Given the description of an element on the screen output the (x, y) to click on. 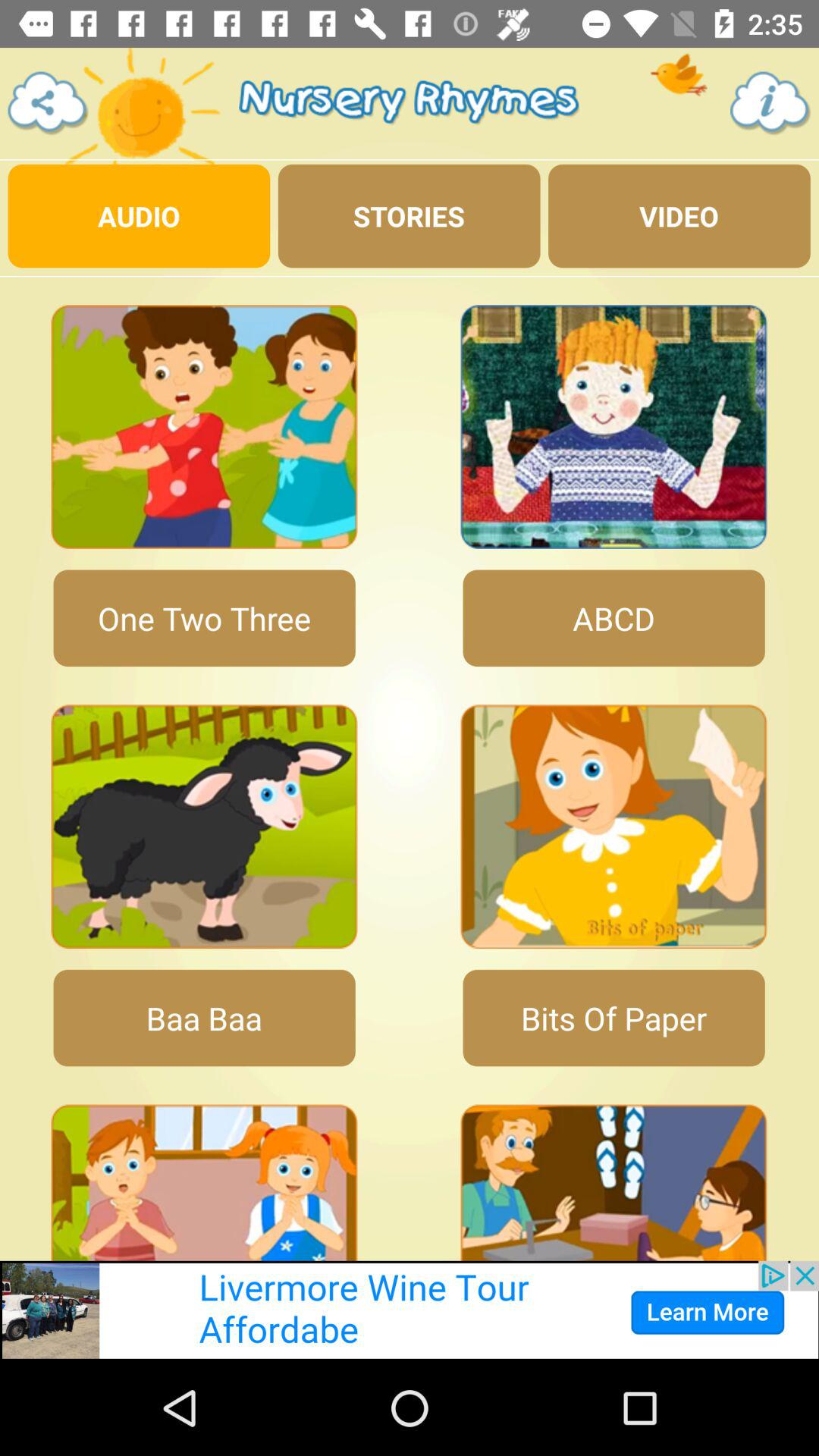
toggle more information (770, 103)
